Given the description of an element on the screen output the (x, y) to click on. 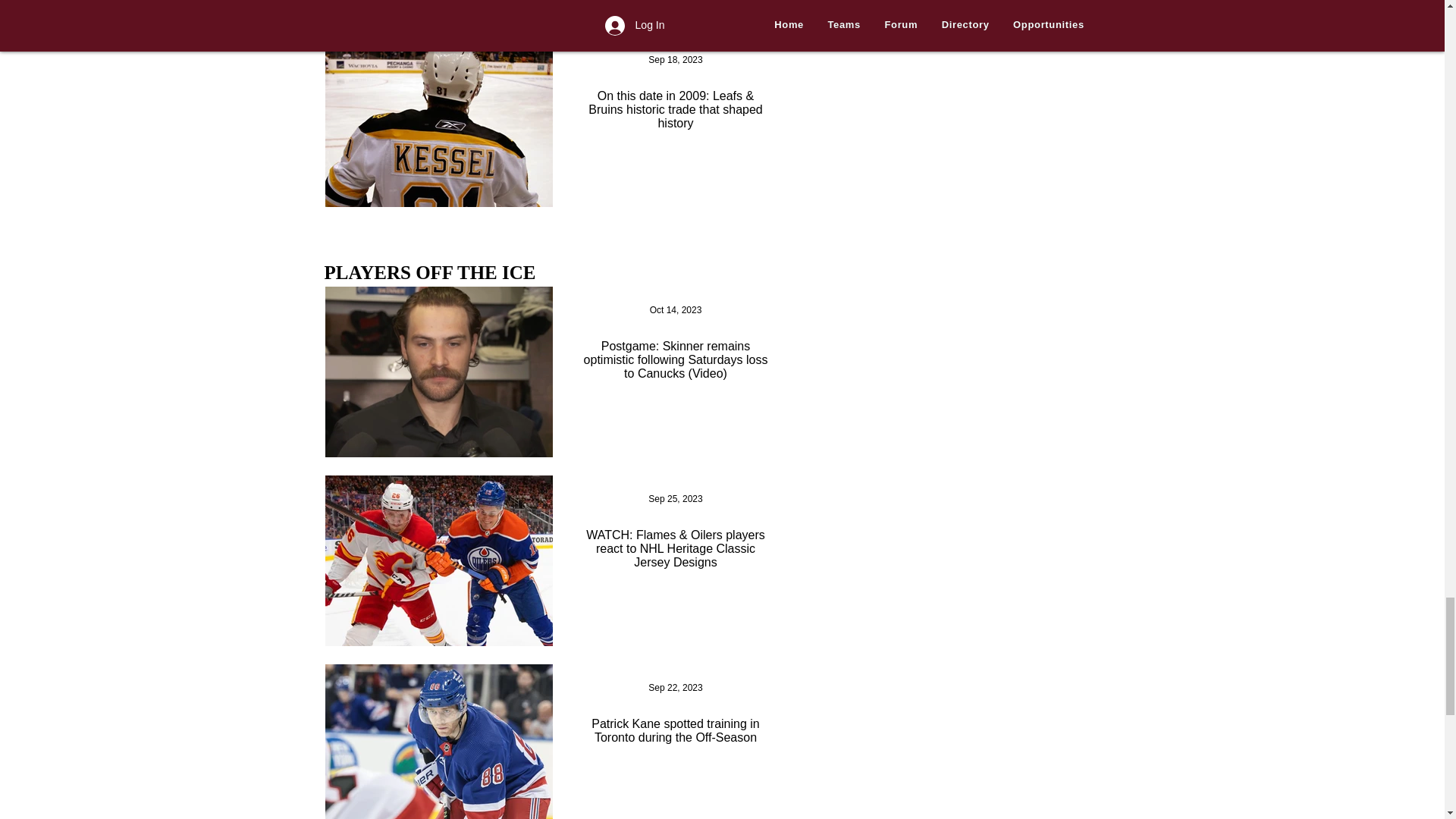
Sep 18, 2023 (674, 59)
Sep 22, 2023 (674, 687)
Sep 25, 2023 (674, 498)
Oct 14, 2023 (675, 309)
